Given the description of an element on the screen output the (x, y) to click on. 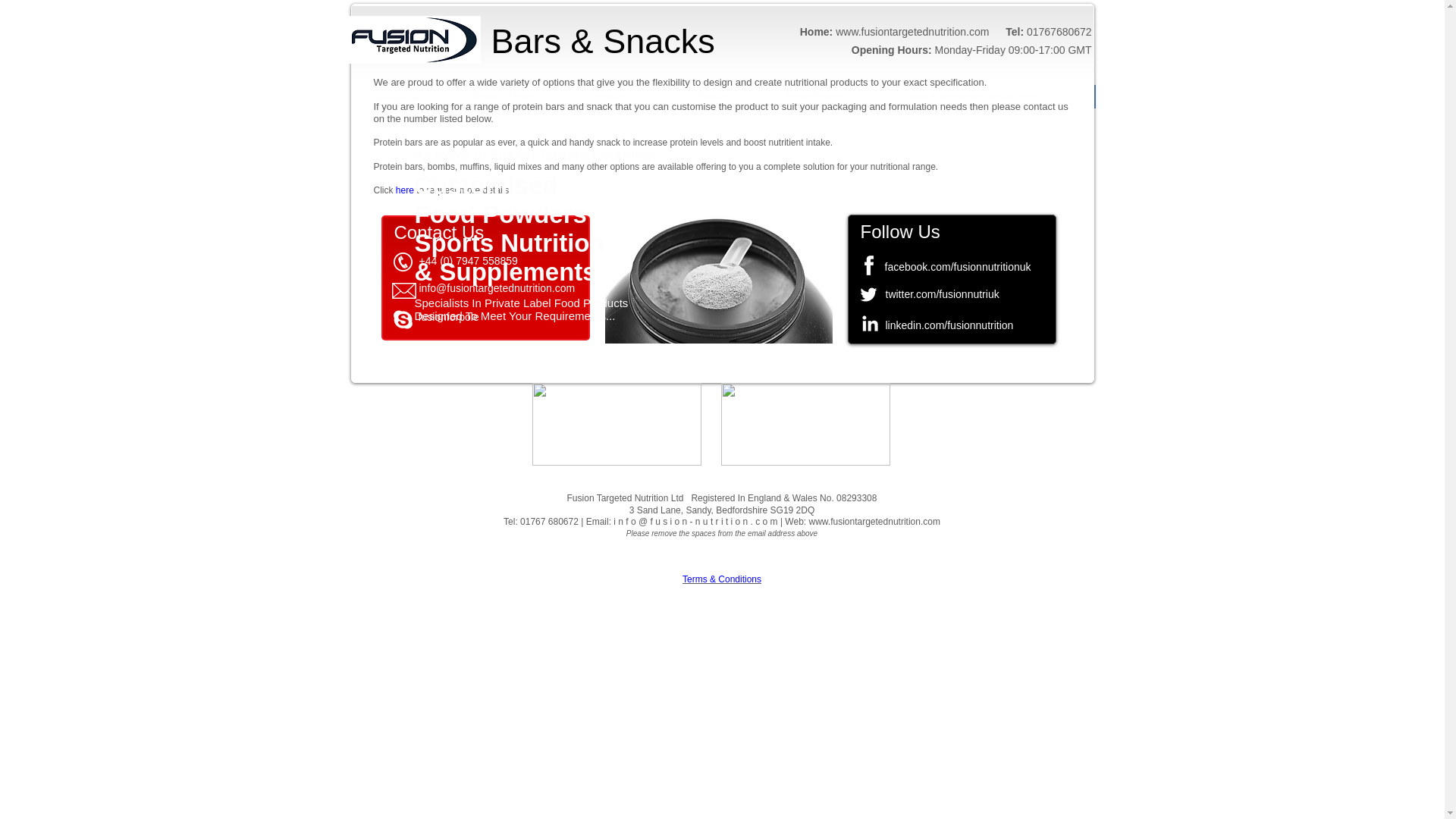
here (404, 190)
Sample Request (813, 94)
telephone icon white.png (402, 261)
twitter.png (867, 294)
Flavours (714, 95)
icon-skype-white-1.png (402, 319)
www.fusiontargetednutrition.com (873, 521)
Home: www.fusiontargetednutrition.com (894, 31)
bespoke-custom-protein-shakes.jpg 2013-9-7-14:18:55 (718, 273)
Email Icon white.png (402, 289)
Opening Hours: Monday-Friday 09:00-17:00 GMT (971, 50)
facebook.png (868, 265)
Contact Us (398, 97)
ISO-22000-2005-badge-white.png (616, 424)
ISO-9001-2015-badge-white.png (804, 424)
